Given the description of an element on the screen output the (x, y) to click on. 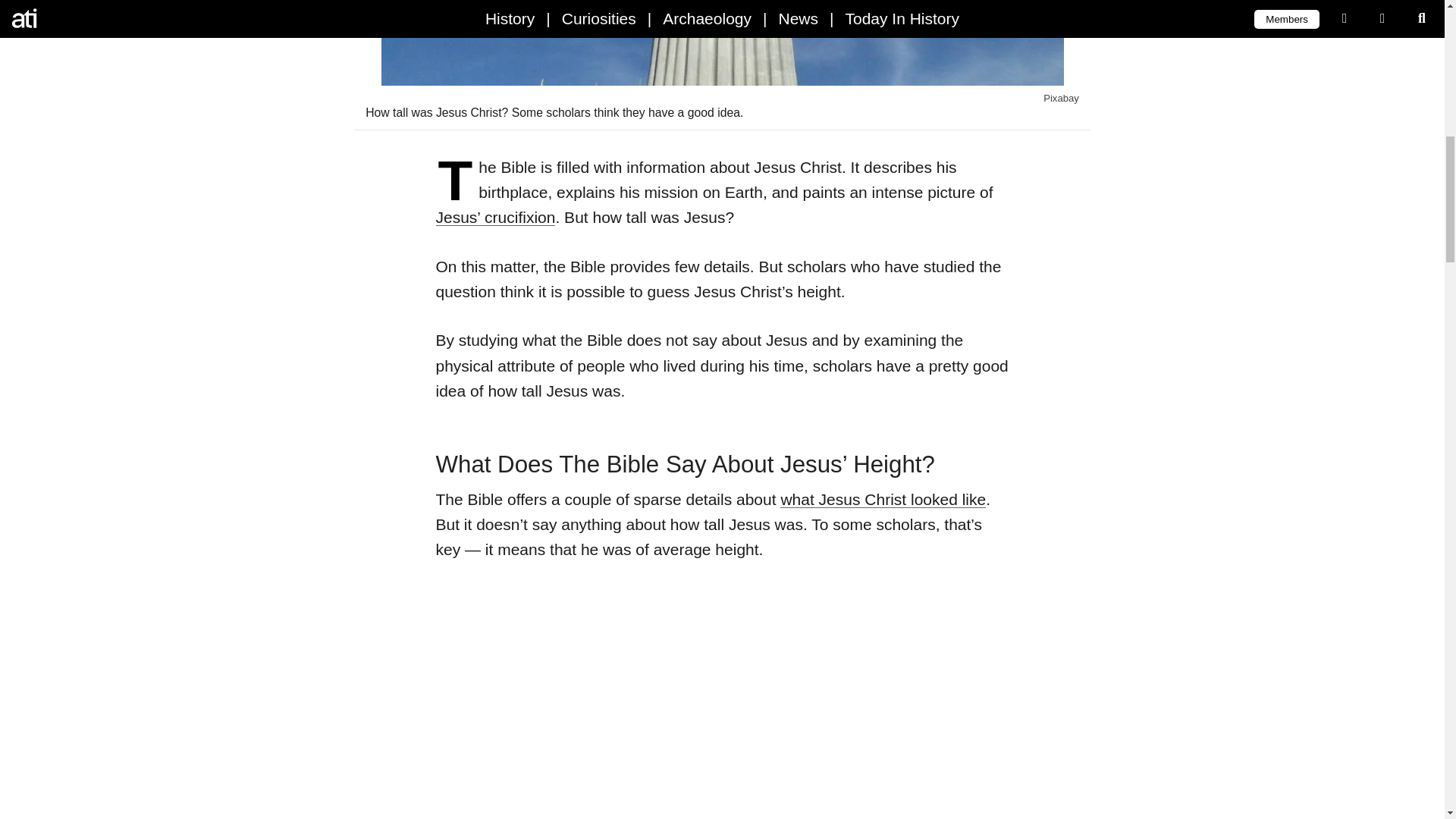
what Jesus Christ looked like (882, 498)
